Given the description of an element on the screen output the (x, y) to click on. 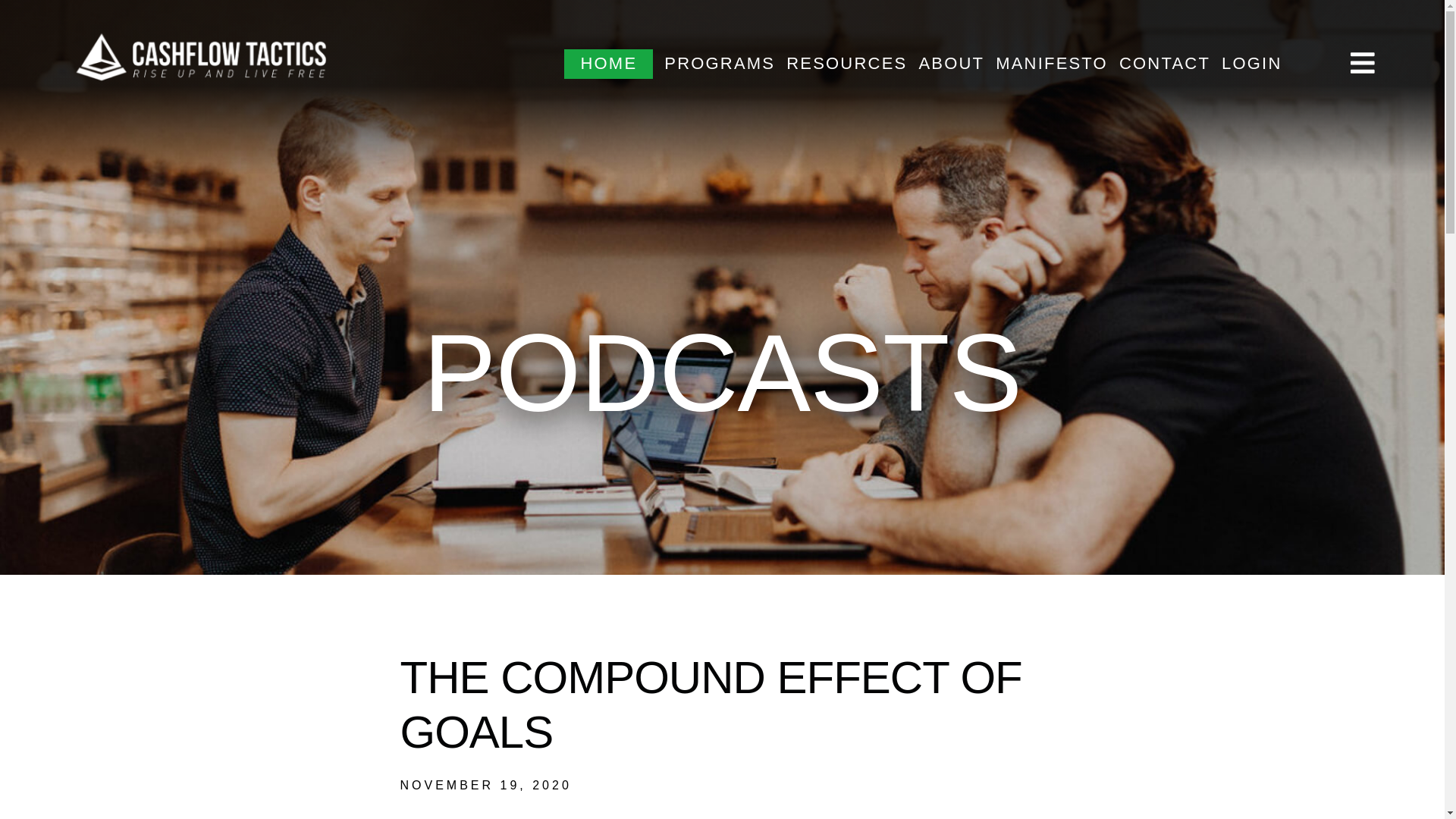
CONTACT (1164, 63)
PROGRAMS (718, 63)
LOGIN (1251, 63)
ABOUT (951, 63)
RESOURCES (846, 63)
MANIFESTO (1051, 63)
HOME (608, 63)
